Given the description of an element on the screen output the (x, y) to click on. 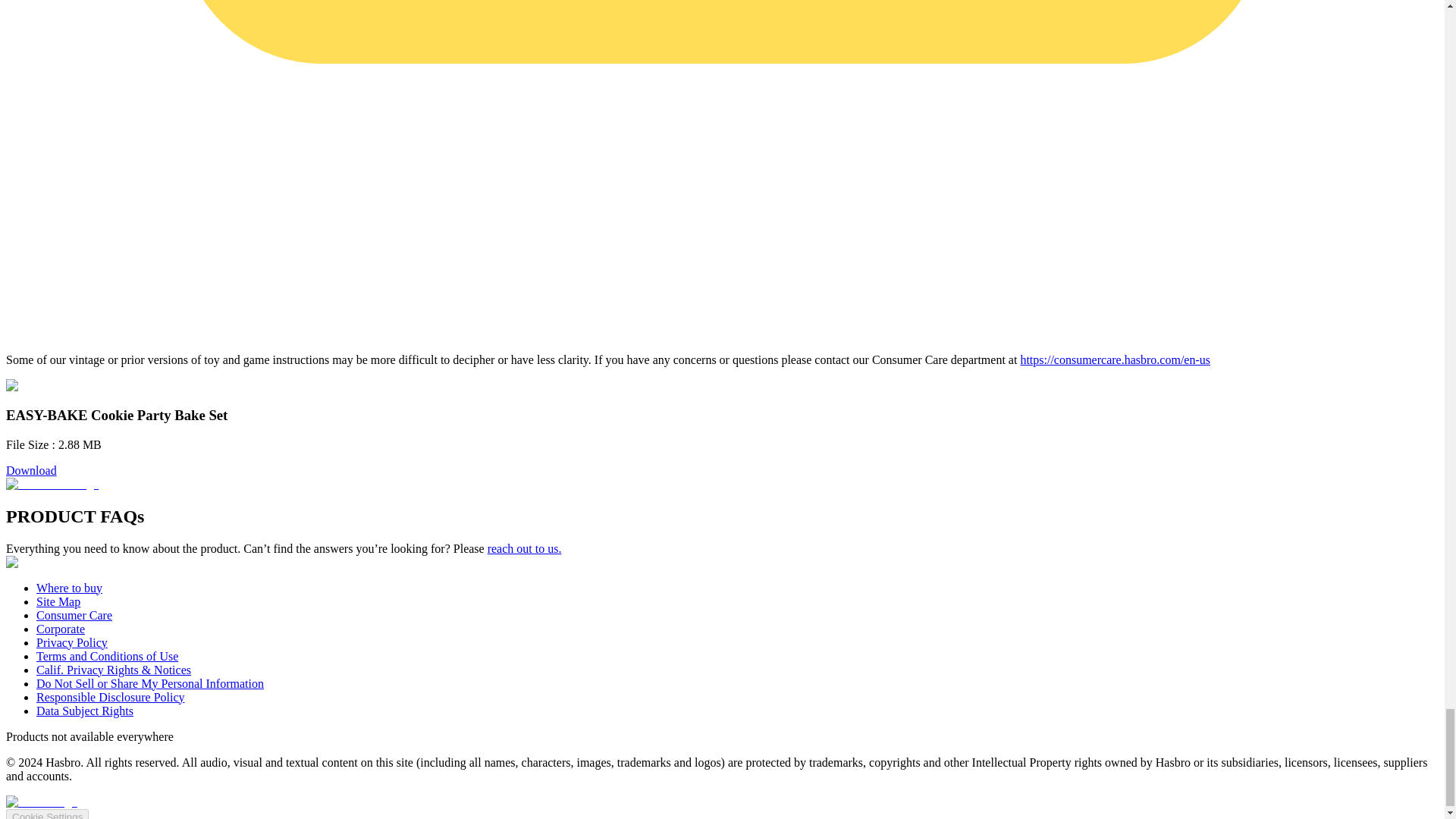
Where to buy (68, 587)
reach out to us. (524, 548)
Do Not Sell or Share My Personal Information (149, 683)
Consumer Care (74, 615)
Responsible Disclosure Policy (110, 697)
Terms and Conditions of Use (106, 656)
Data Subject Rights (84, 710)
Corporate (60, 628)
Privacy Policy (71, 642)
Site Map (58, 601)
